Given the description of an element on the screen output the (x, y) to click on. 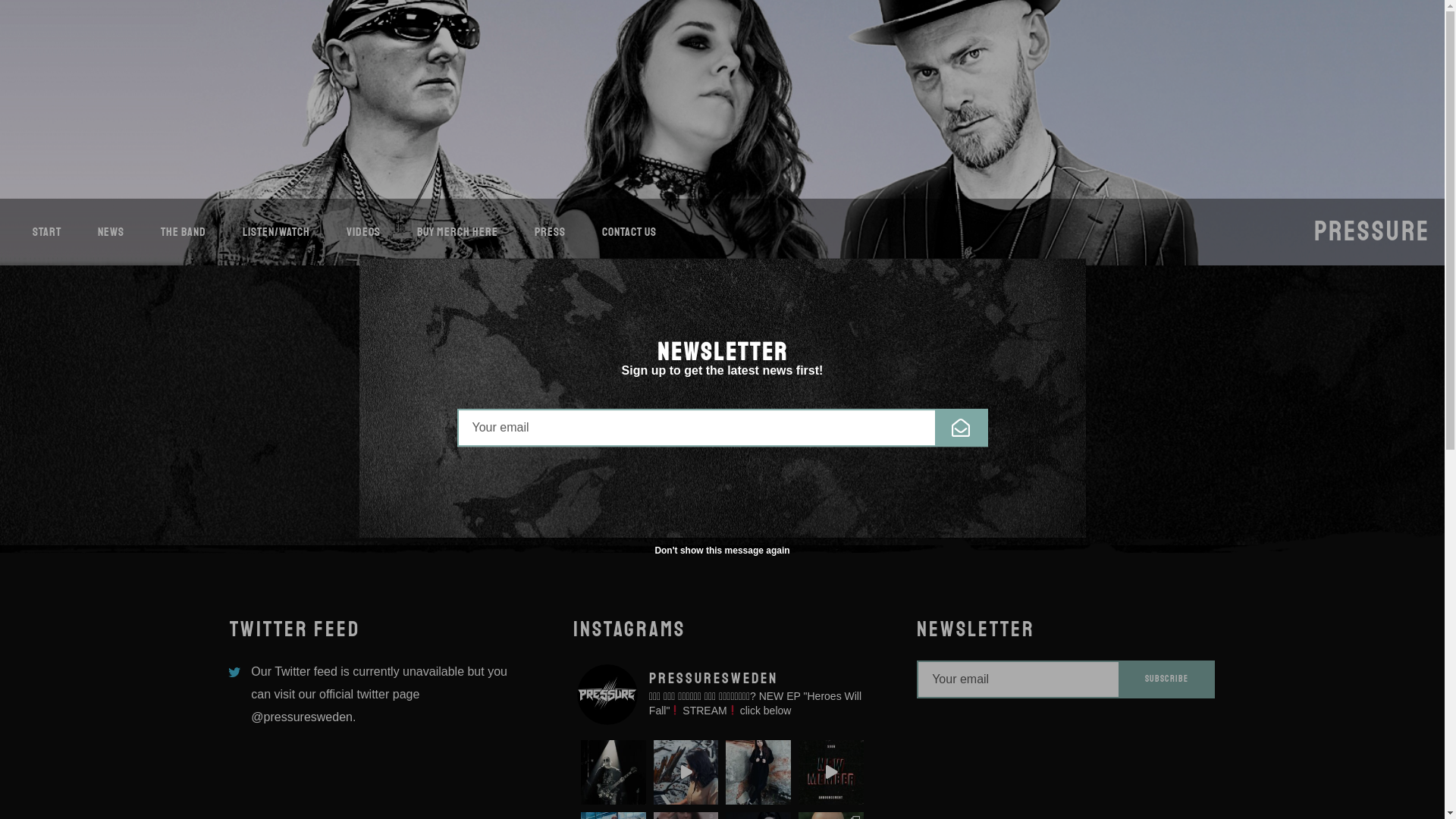
SUBSCRIBE Element type: text (939, 450)
CONTACT US Element type: text (628, 231)
START Element type: text (46, 231)
VIDEOS Element type: text (363, 231)
SUBSCRIBE Element type: text (1166, 678)
PRESS Element type: text (549, 231)
BUY MERCH HERE Element type: text (457, 231)
X Element type: text (1063, 280)
LISTEN/WATCH Element type: text (276, 231)
NEWS Element type: text (110, 231)
PRESSURE Element type: text (1372, 231)
THE BAND Element type: text (183, 231)
@pressuresweden Element type: text (301, 716)
